Given the description of an element on the screen output the (x, y) to click on. 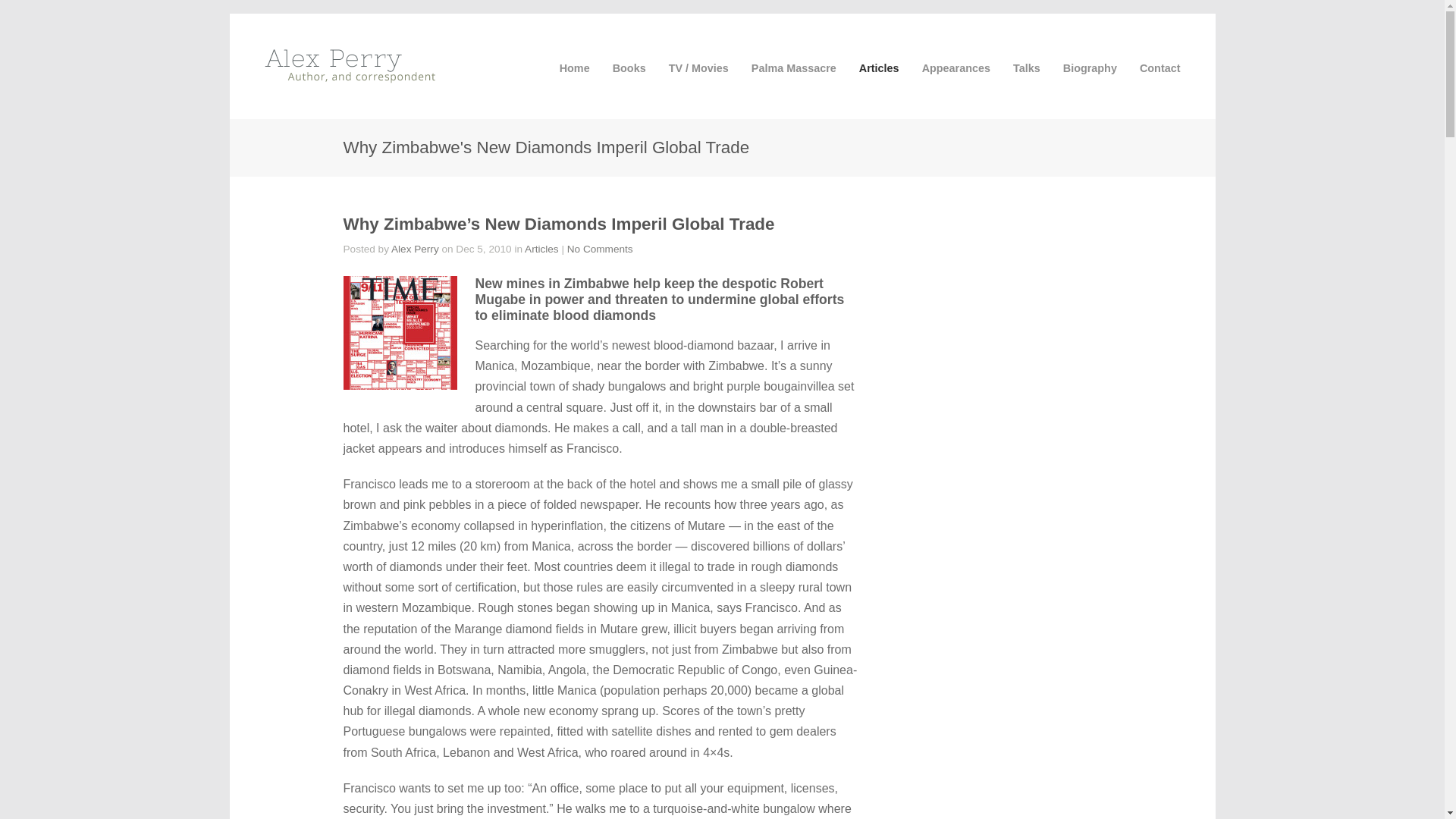
Talks (1027, 67)
No Comments (600, 248)
Palma Massacre (793, 67)
Alex Perry (415, 248)
Biography (1089, 67)
Articles (541, 248)
Articles (879, 67)
Posts by Alex Perry (415, 248)
Appearances (955, 67)
Home (574, 67)
Contact (1160, 67)
Books (629, 67)
